Given the description of an element on the screen output the (x, y) to click on. 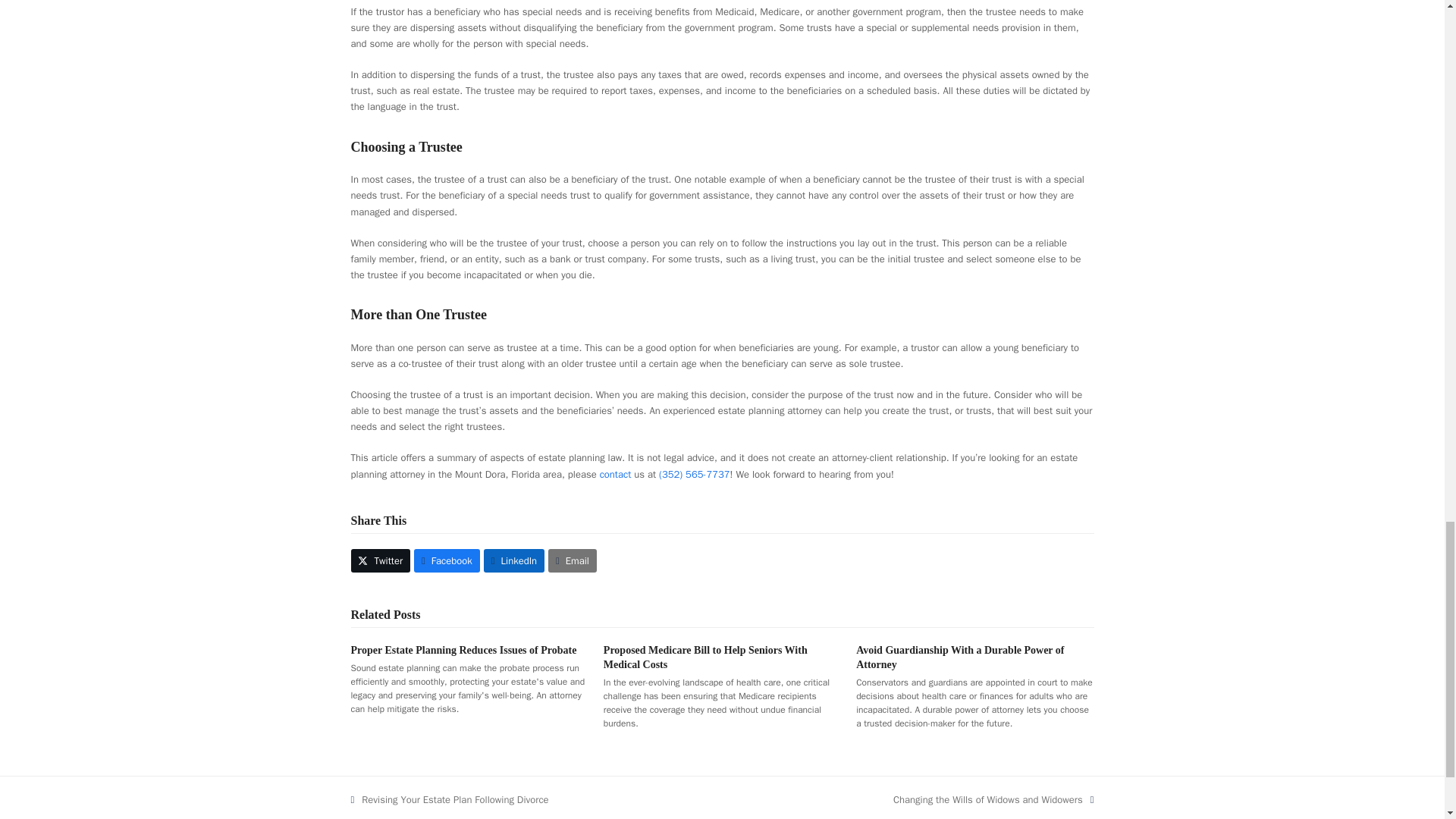
Email (572, 560)
Proper Estate Planning Reduces Issues of Probate (463, 650)
Facebook (446, 560)
Proposed Medicare Bill to Help Seniors With Medical Costs (706, 657)
LinkedIn (513, 560)
Twitter (380, 560)
contact (615, 473)
Avoid Guardianship With a Durable Power of Attorney (449, 799)
